Given the description of an element on the screen output the (x, y) to click on. 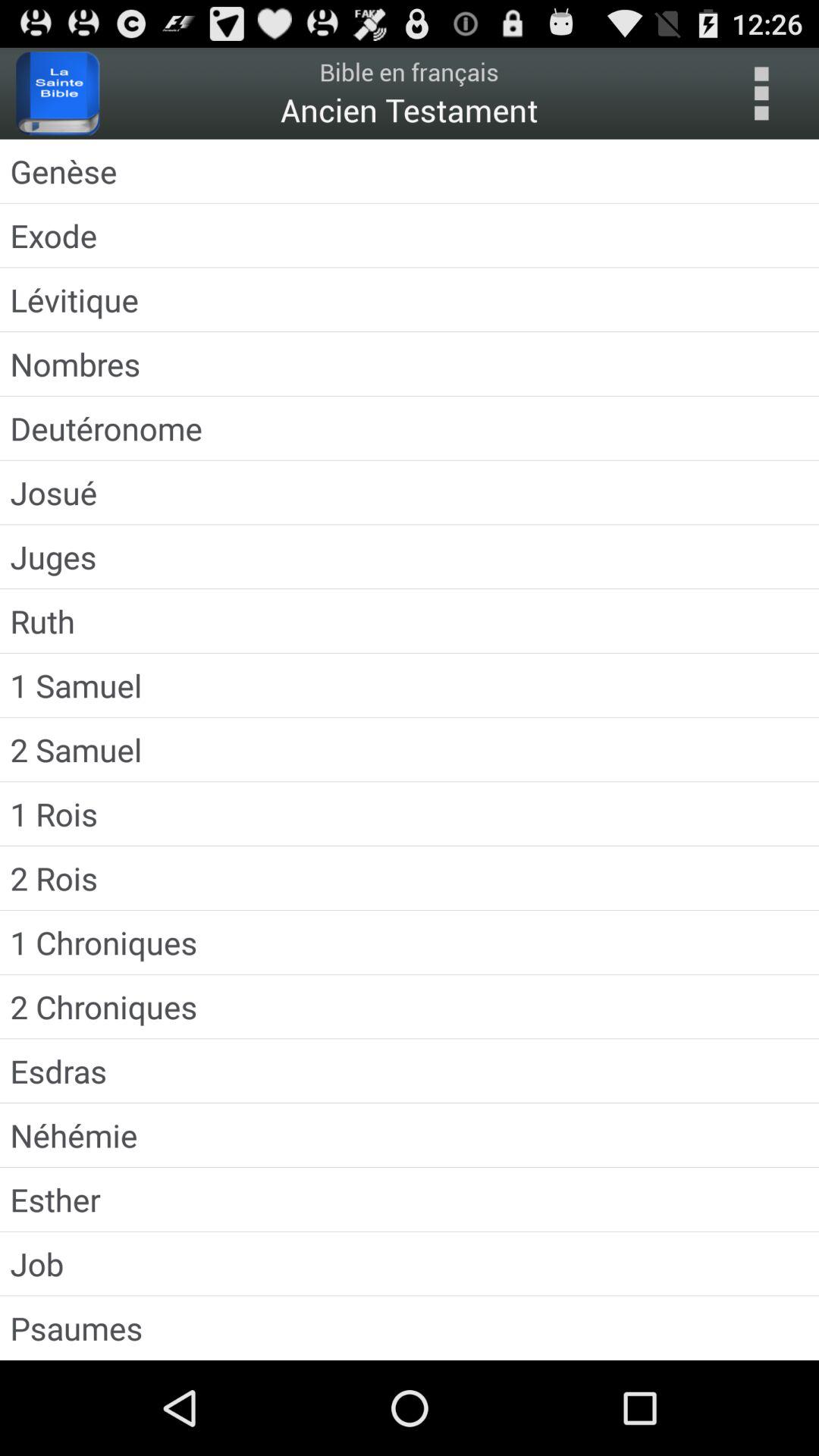
settings (761, 93)
